Given the description of an element on the screen output the (x, y) to click on. 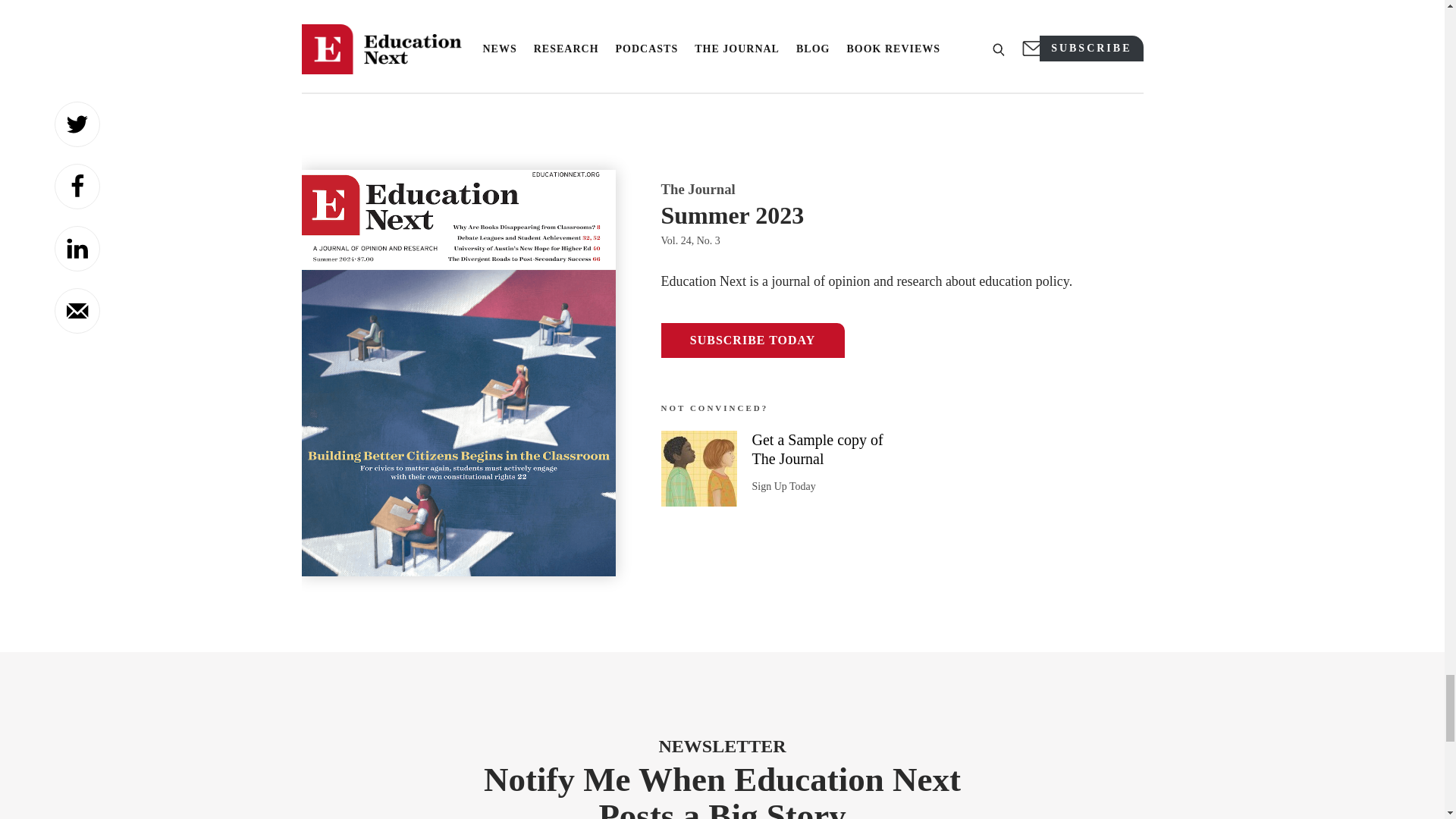
Sign Up Today (783, 486)
Why Students in Some Countries Do Better (433, 3)
Why Students in Some Countries Do Better (433, 3)
SUBSCRIBE TODAY (752, 339)
Summer 2023 (901, 215)
